Given the description of an element on the screen output the (x, y) to click on. 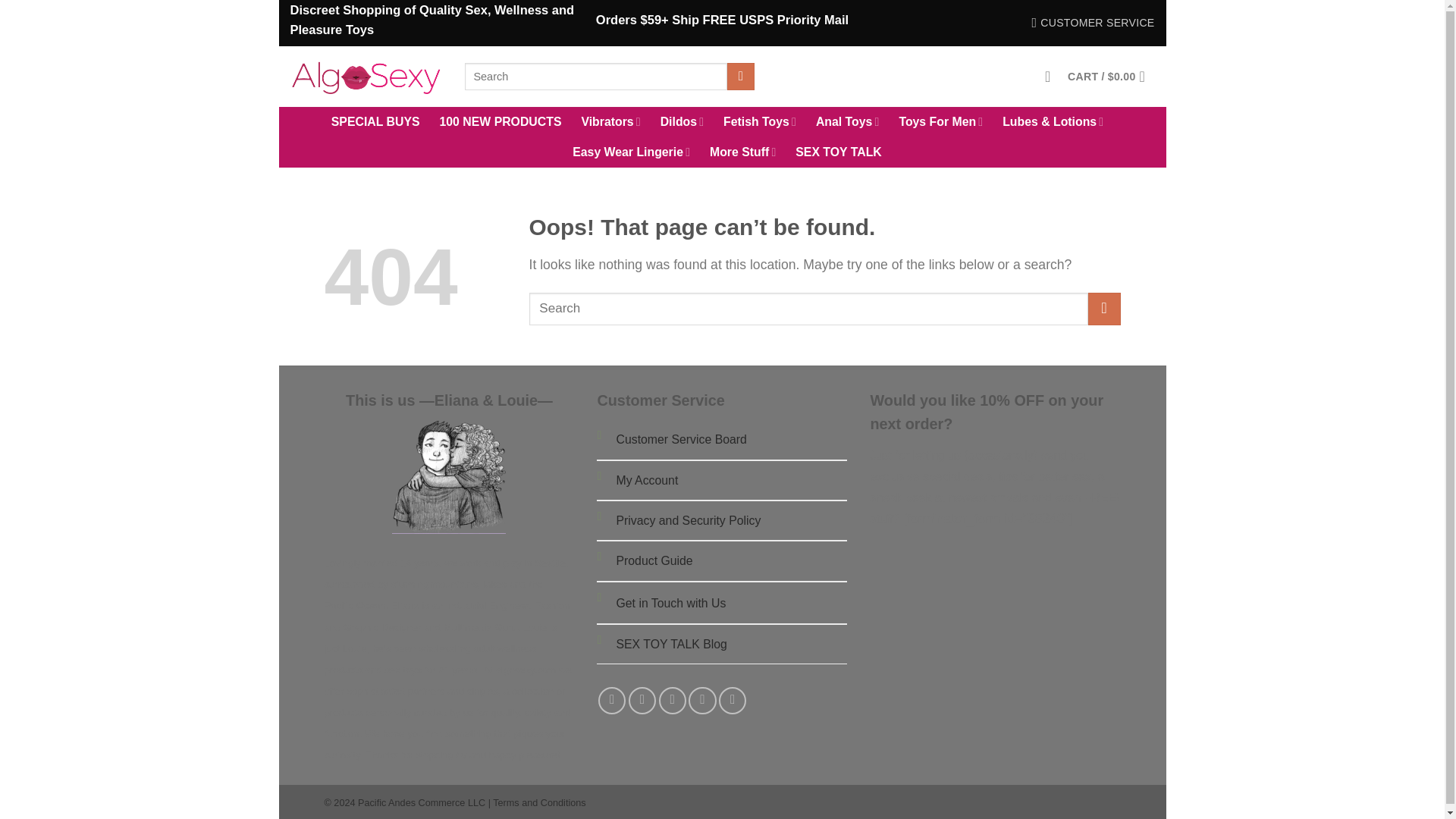
Follow on Instagram (642, 700)
Fetish Toys (759, 122)
SPECIAL BUYS (375, 122)
Follow on Facebook (612, 700)
Dildos (682, 122)
Search (740, 76)
Follow on Twitter (672, 700)
Call us (732, 700)
Send us an email (702, 700)
Vibrators (610, 122)
